Given the description of an element on the screen output the (x, y) to click on. 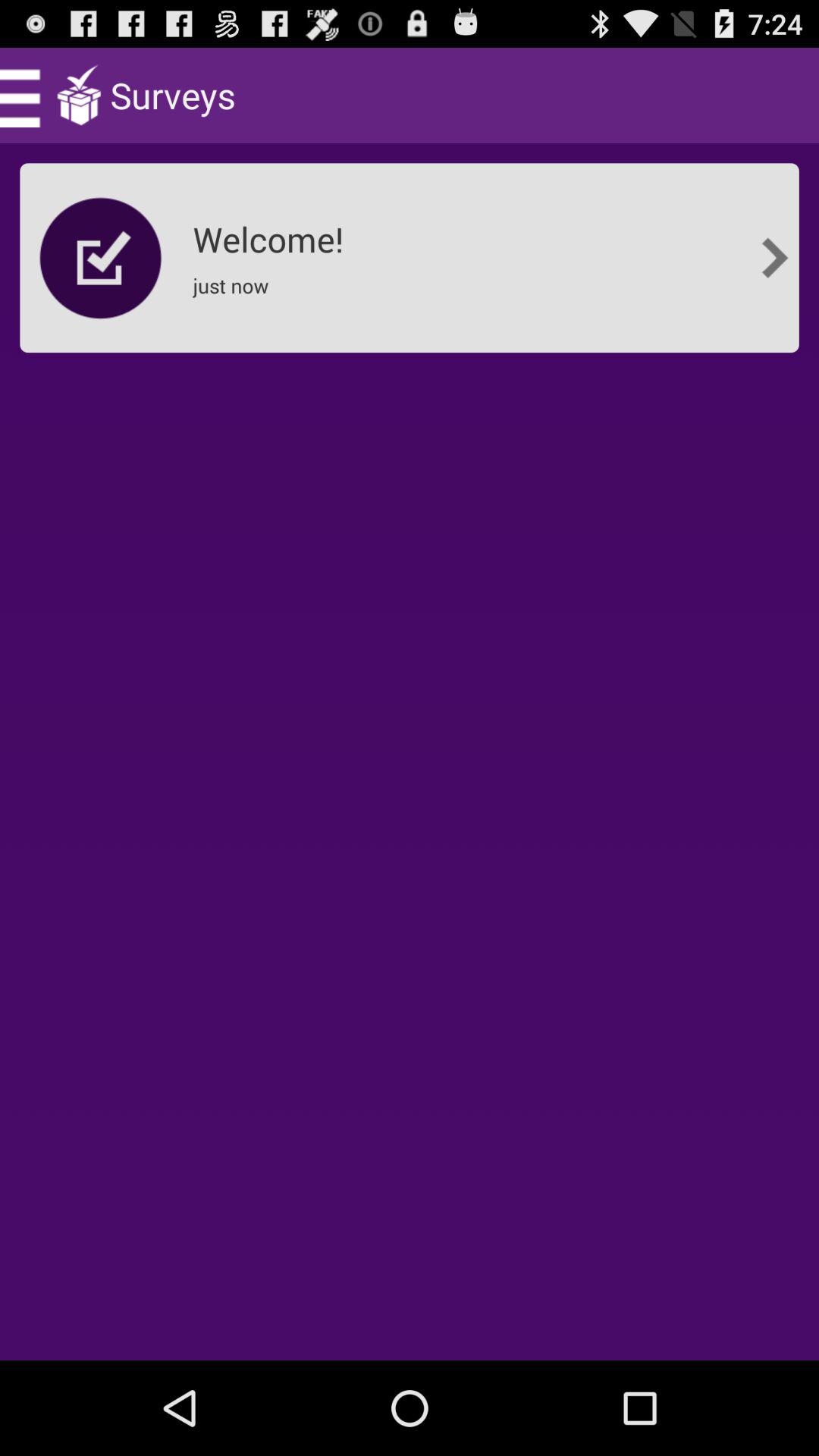
press the just now item (235, 295)
